Given the description of an element on the screen output the (x, y) to click on. 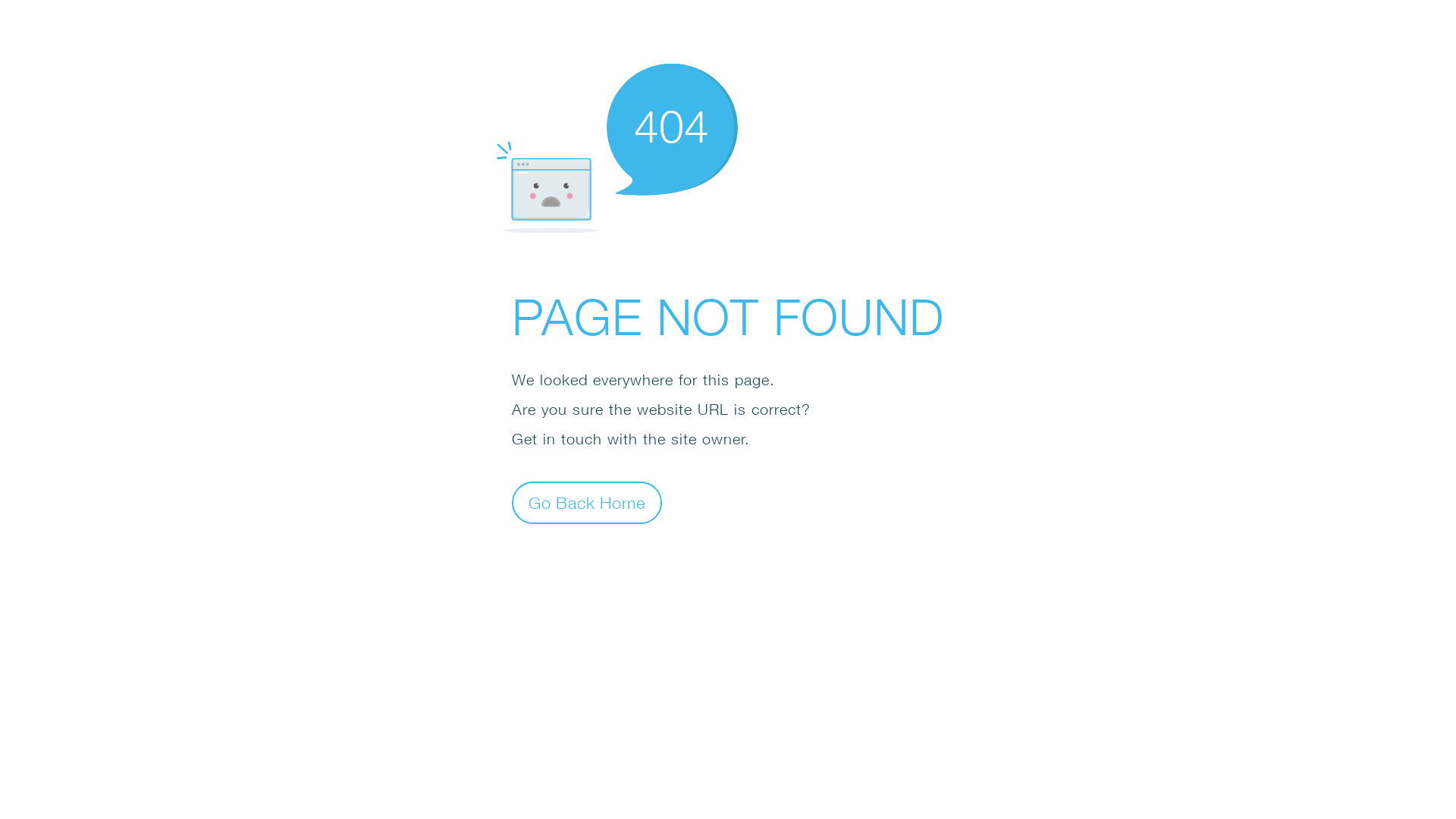
Go Back Home Element type: text (586, 502)
